Given the description of an element on the screen output the (x, y) to click on. 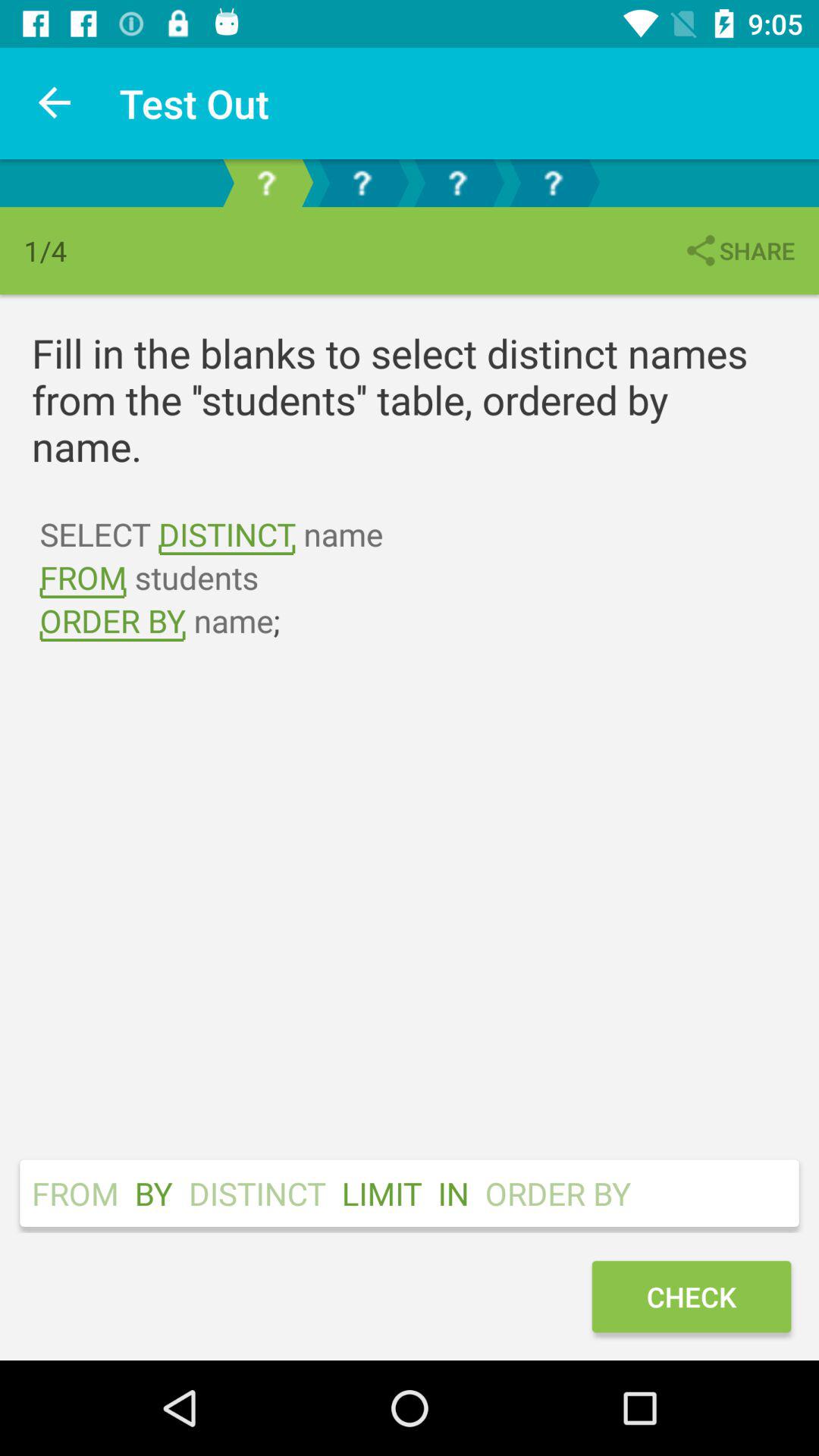
tap the share item (738, 250)
